Given the description of an element on the screen output the (x, y) to click on. 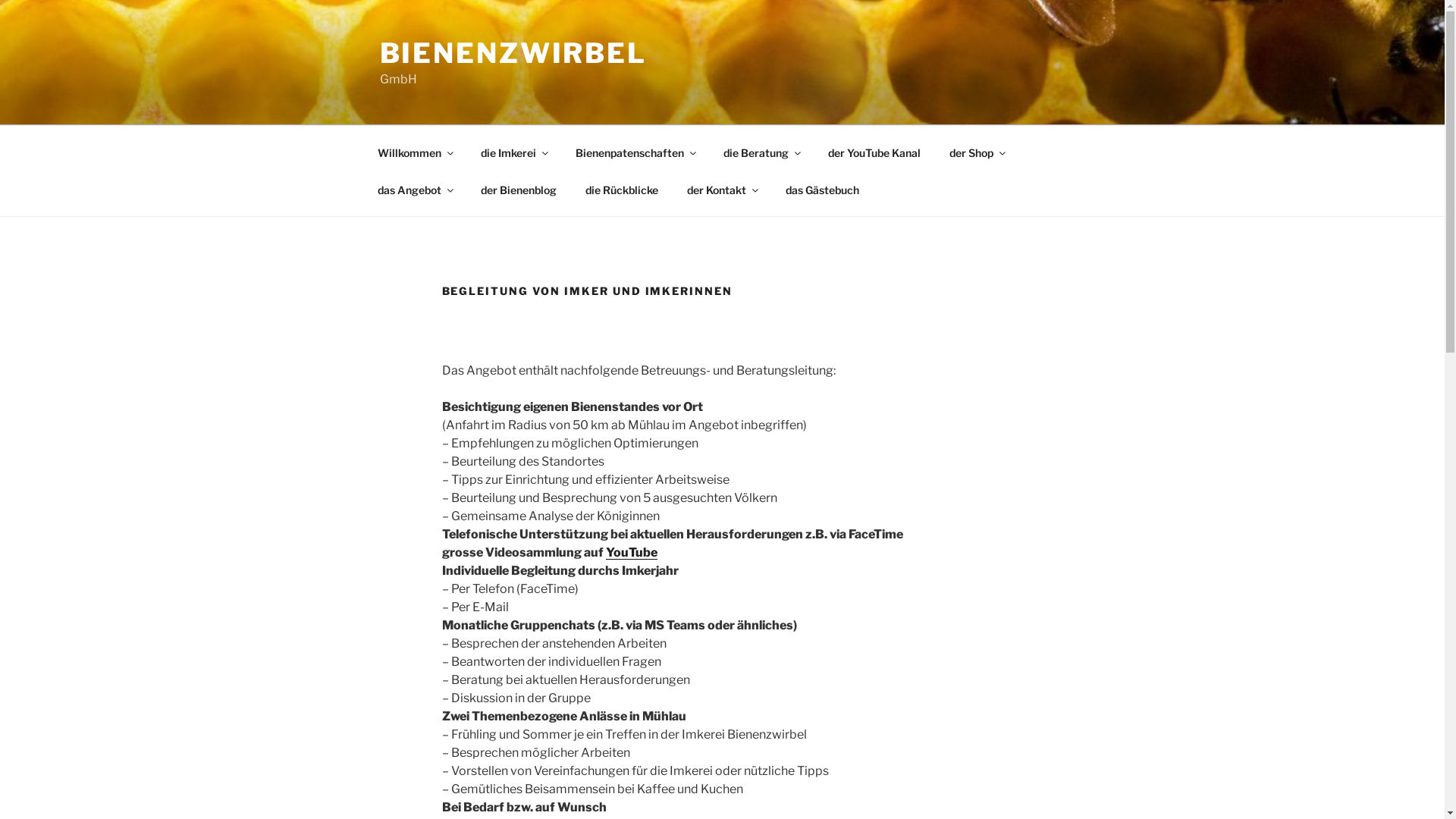
Willkommen Element type: text (414, 151)
der Kontakt Element type: text (721, 189)
der YouTube Kanal Element type: text (873, 151)
Bienenpatenschaften Element type: text (635, 151)
der Shop Element type: text (975, 151)
der Bienenblog Element type: text (518, 189)
BIENENZWIRBEL Element type: text (512, 52)
das Angebot Element type: text (414, 189)
die Beratung Element type: text (760, 151)
die Imkerei Element type: text (513, 151)
YouTube Element type: text (630, 552)
